Given the description of an element on the screen output the (x, y) to click on. 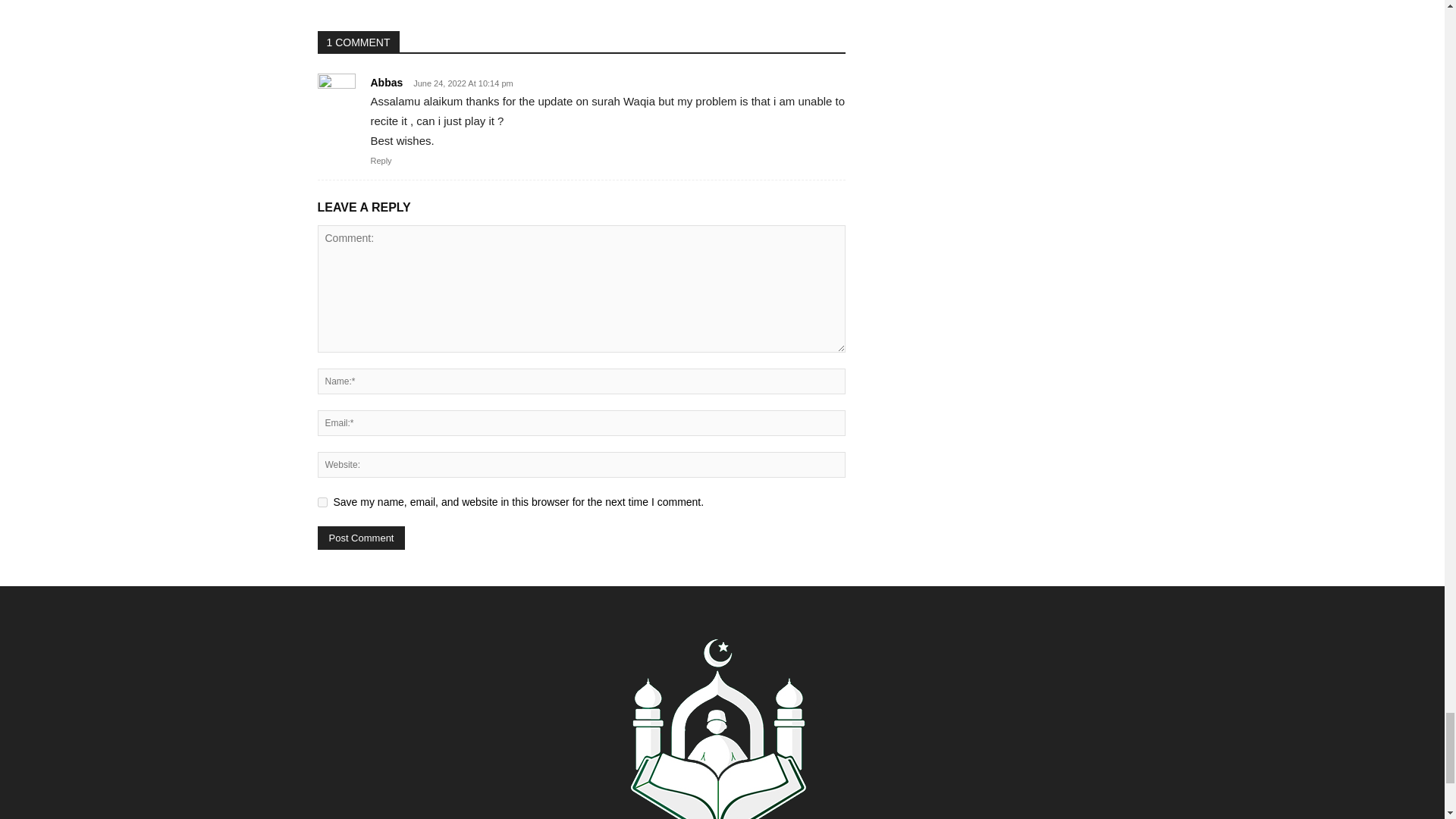
Post Comment (360, 537)
yes (321, 501)
